Given the description of an element on the screen output the (x, y) to click on. 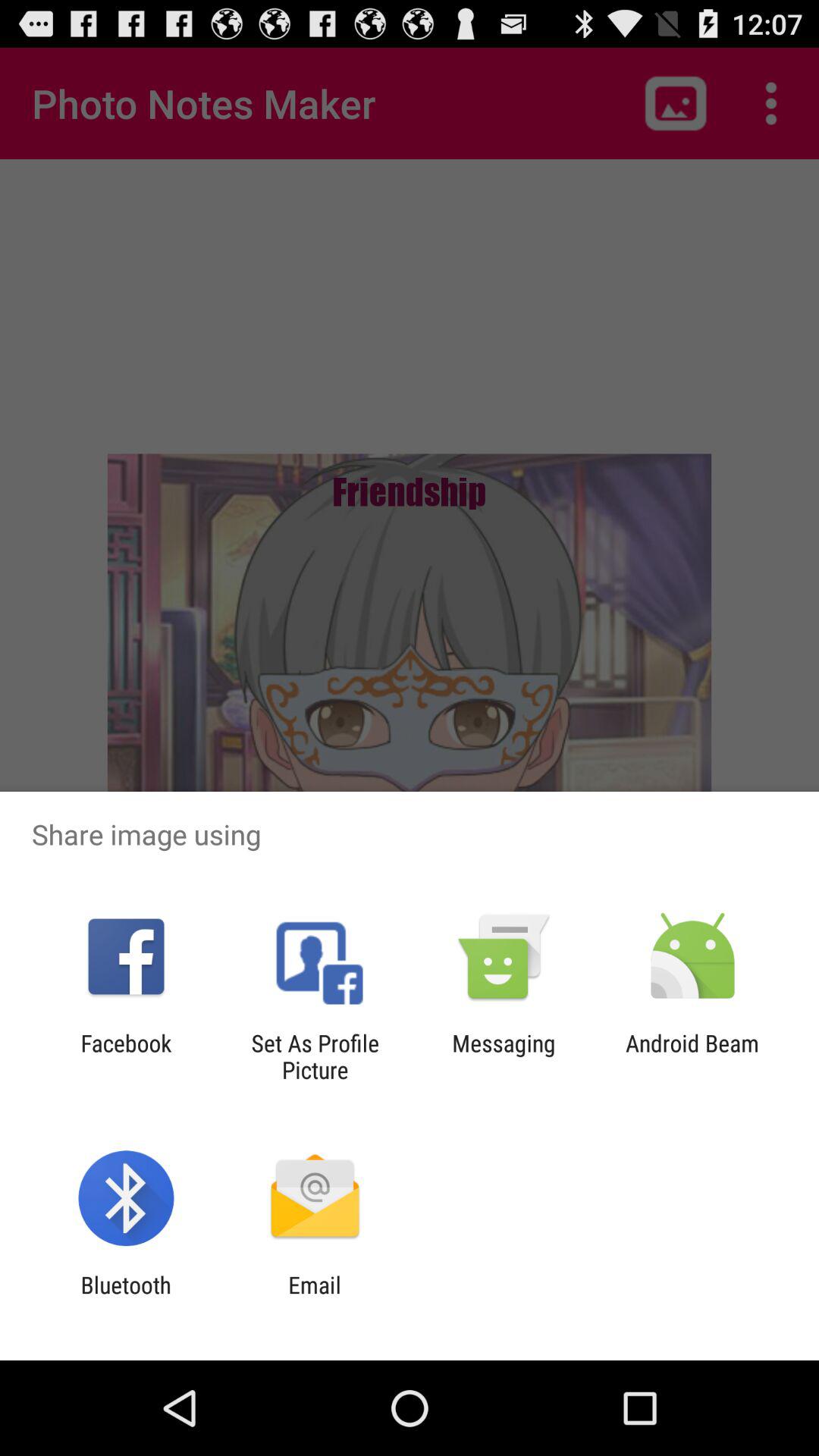
tap icon next to the bluetooth icon (314, 1298)
